Given the description of an element on the screen output the (x, y) to click on. 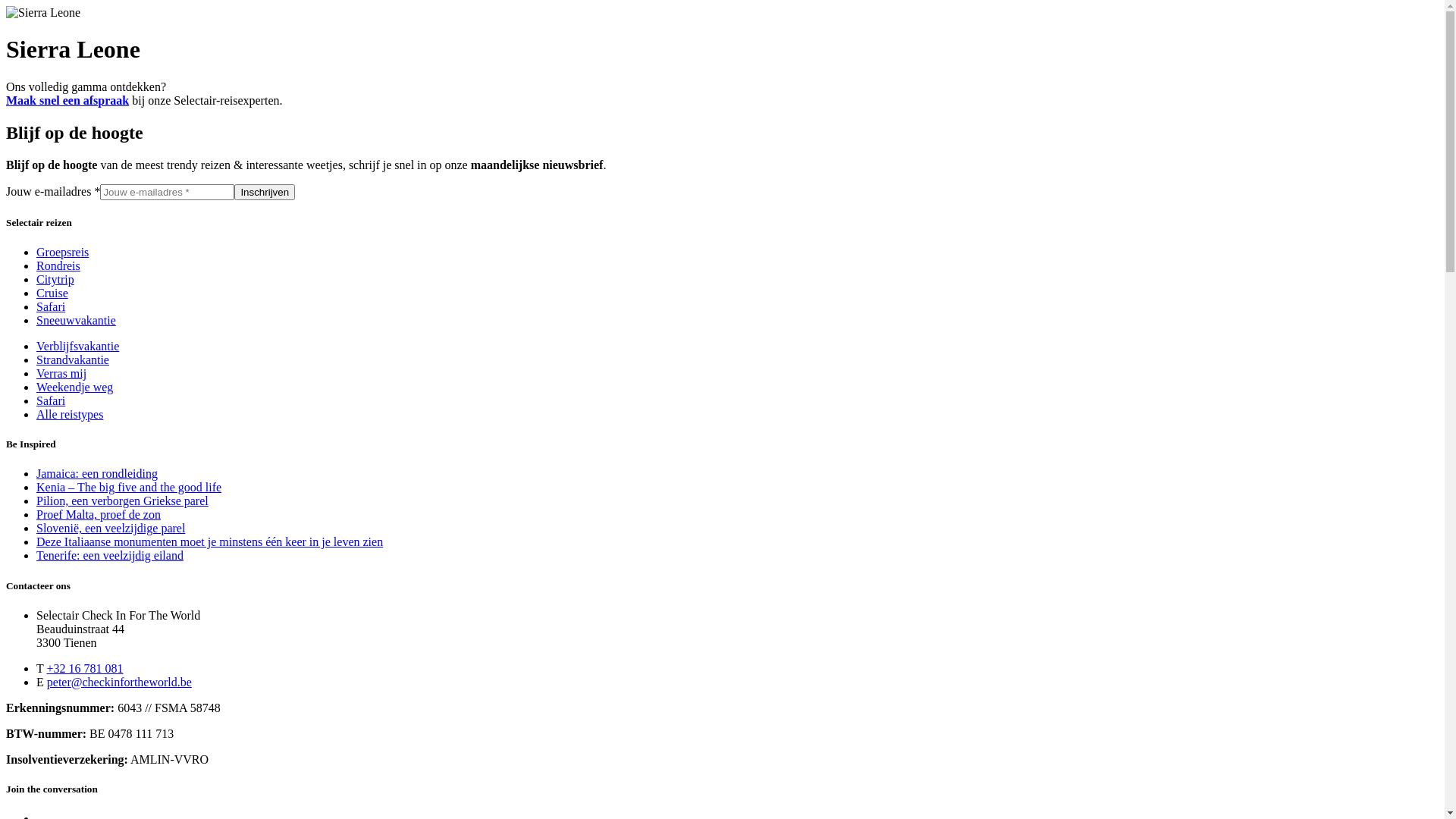
Citytrip Element type: text (55, 279)
Tenerife: een veelzijdig eiland Element type: text (109, 555)
+32 16 781 081 Element type: text (84, 668)
Rondreis Element type: text (58, 265)
peter@checkinfortheworld.be Element type: text (119, 681)
Groepsreis Element type: text (62, 251)
Jamaica: een rondleiding Element type: text (96, 473)
Cruise Element type: text (52, 292)
Verras mij Element type: text (61, 373)
Alle reistypes Element type: text (69, 413)
Sneeuwvakantie Element type: text (76, 319)
Verblijfsvakantie Element type: text (77, 345)
Maak snel een afspraak Element type: text (67, 100)
Weekendje weg Element type: text (74, 386)
Inschrijven Element type: text (264, 192)
Strandvakantie Element type: text (72, 359)
Pilion, een verborgen Griekse parel Element type: text (122, 500)
Proef Malta, proef de zon Element type: text (98, 514)
Safari Element type: text (50, 400)
Safari Element type: text (50, 306)
